Given the description of an element on the screen output the (x, y) to click on. 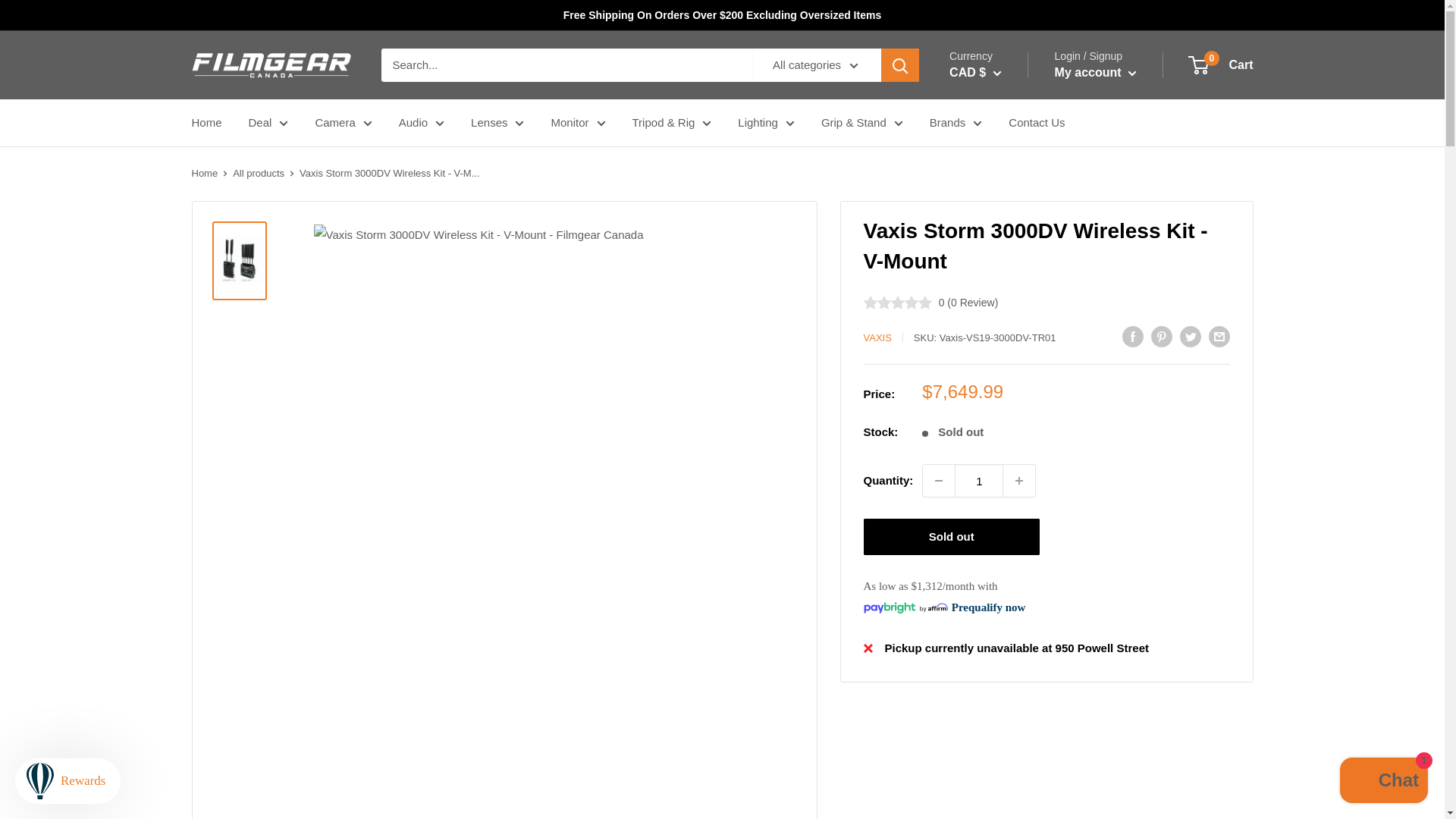
Shopify online store chat (1383, 781)
Decrease quantity by 1 (939, 480)
1 (979, 480)
Increase quantity by 1 (1019, 480)
